Given the description of an element on the screen output the (x, y) to click on. 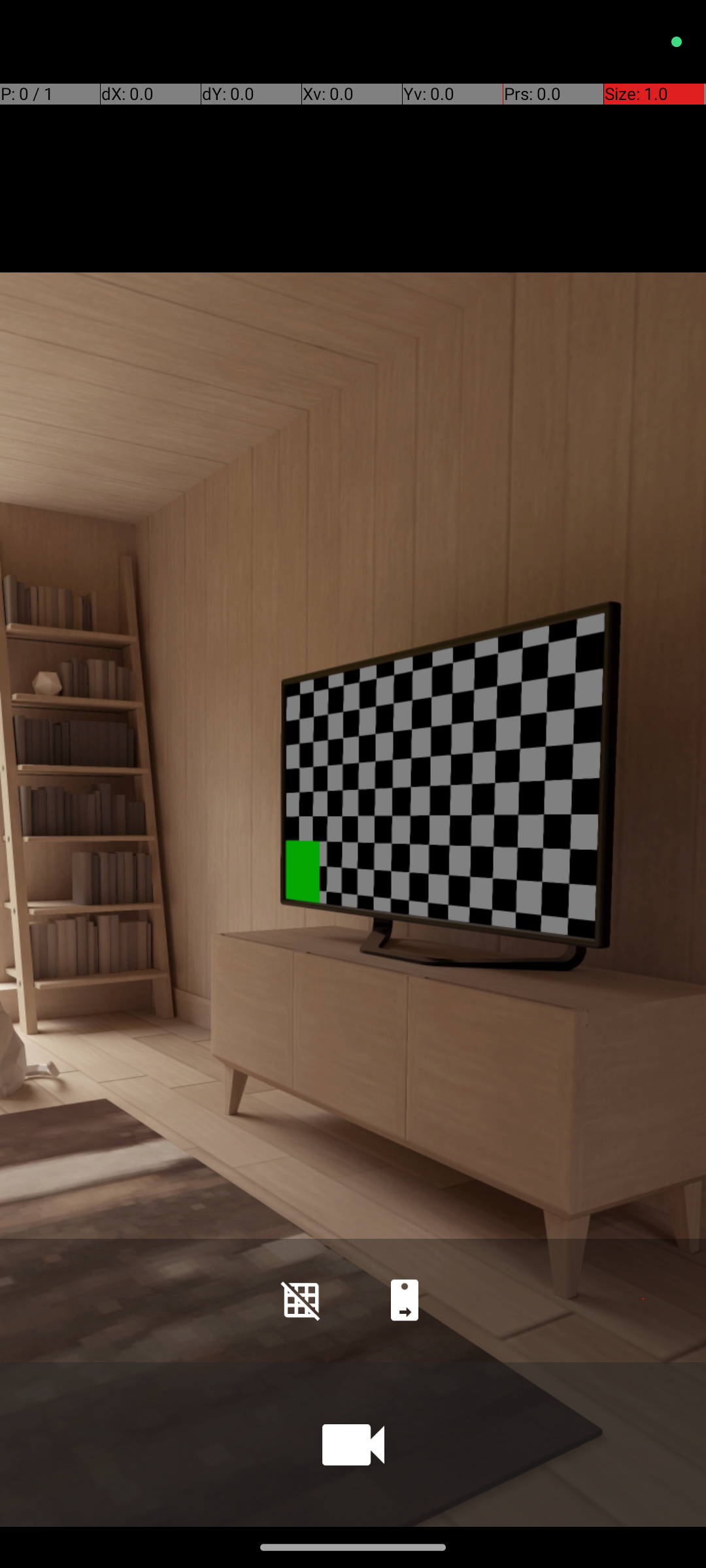
Grid lines off Element type: android.widget.ImageButton (301, 1299)
